Given the description of an element on the screen output the (x, y) to click on. 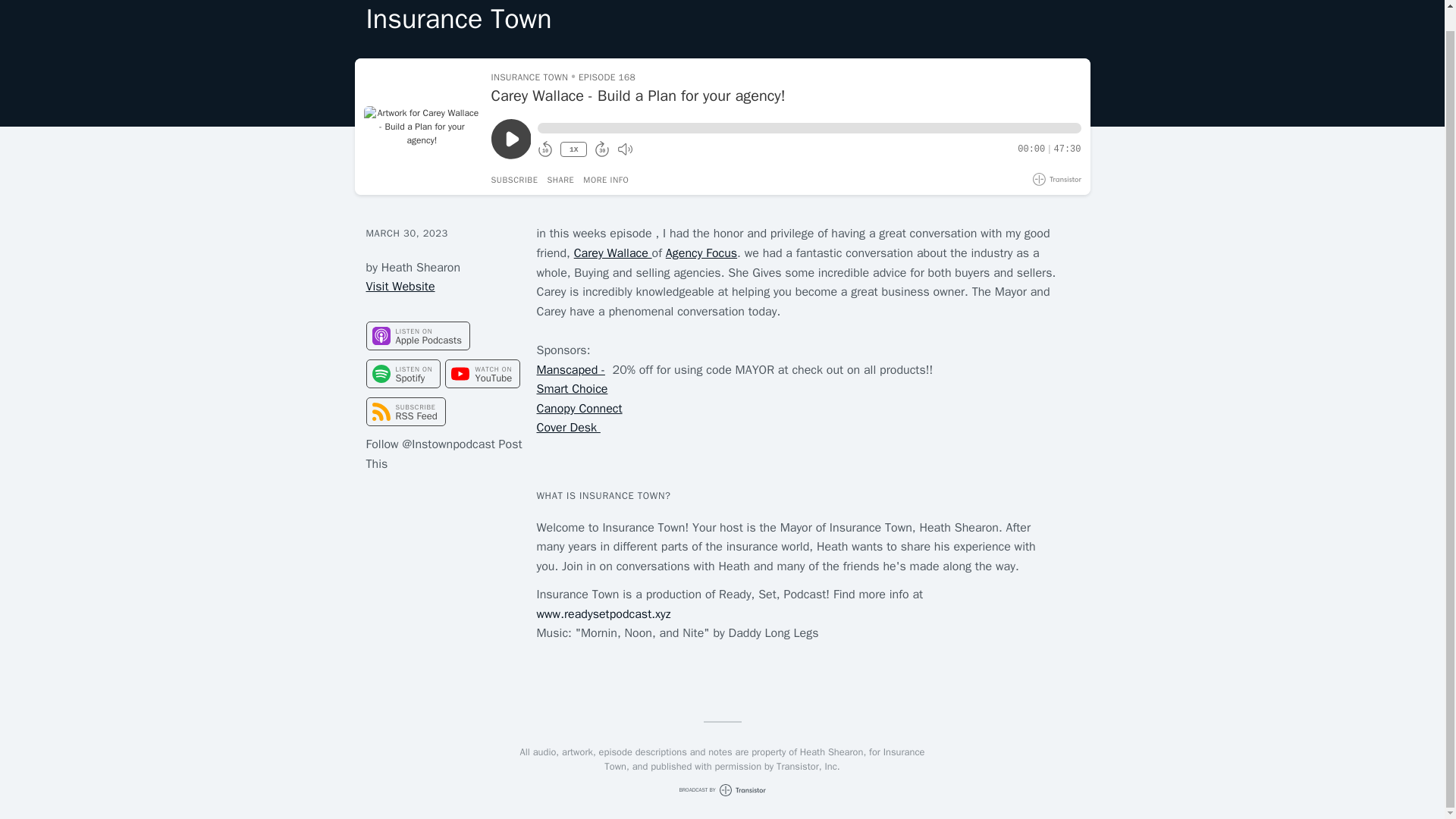
Visit Transistor.fm - Podcast Hosting and Analytics (1056, 178)
Fast Forward 30 seconds (602, 150)
MORE INFO (605, 179)
Carey Wallace - Build a Plan for your agency!  (786, 96)
1X (573, 149)
Show subscribe options (515, 179)
Show sharing options (560, 179)
Play (511, 138)
Show episode details (605, 179)
SUBSCRIBE (515, 179)
Seek within Episode (808, 127)
Rewind 10 seconds (545, 150)
SHARE (560, 179)
10 (545, 150)
30 (602, 150)
